Given the description of an element on the screen output the (x, y) to click on. 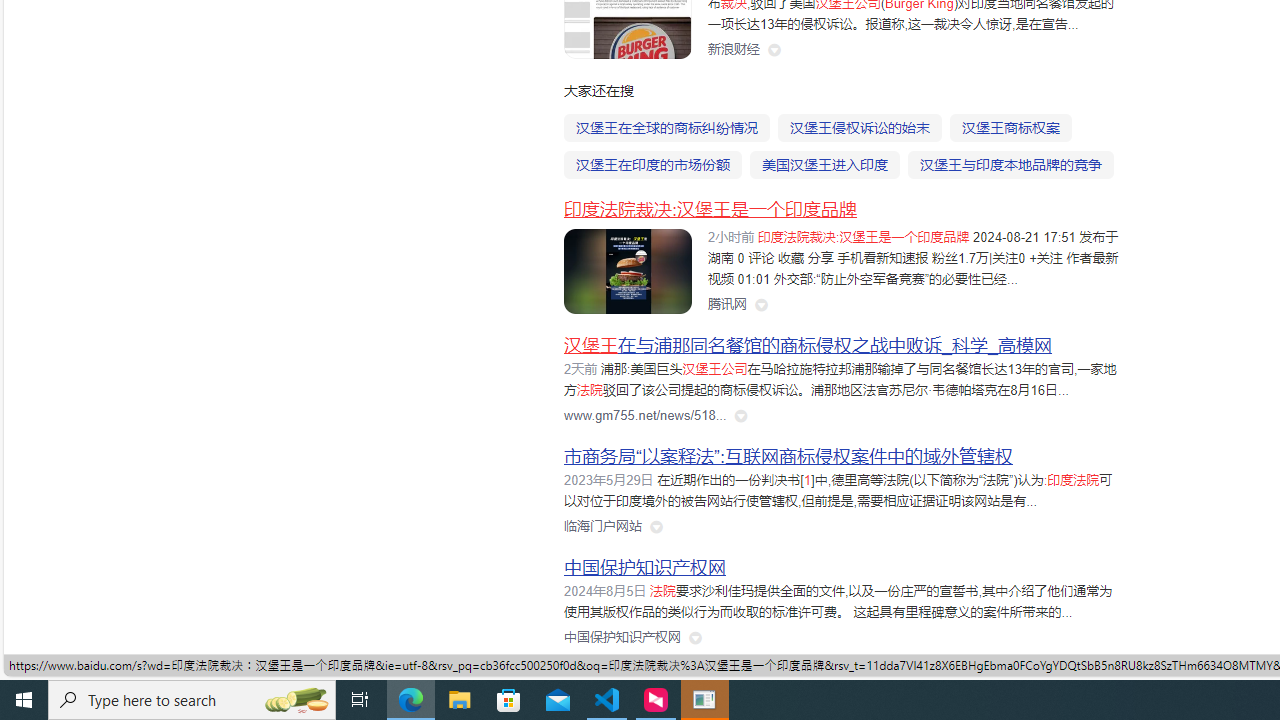
Class: siteLink_9TPP3 (622, 637)
